Given the description of an element on the screen output the (x, y) to click on. 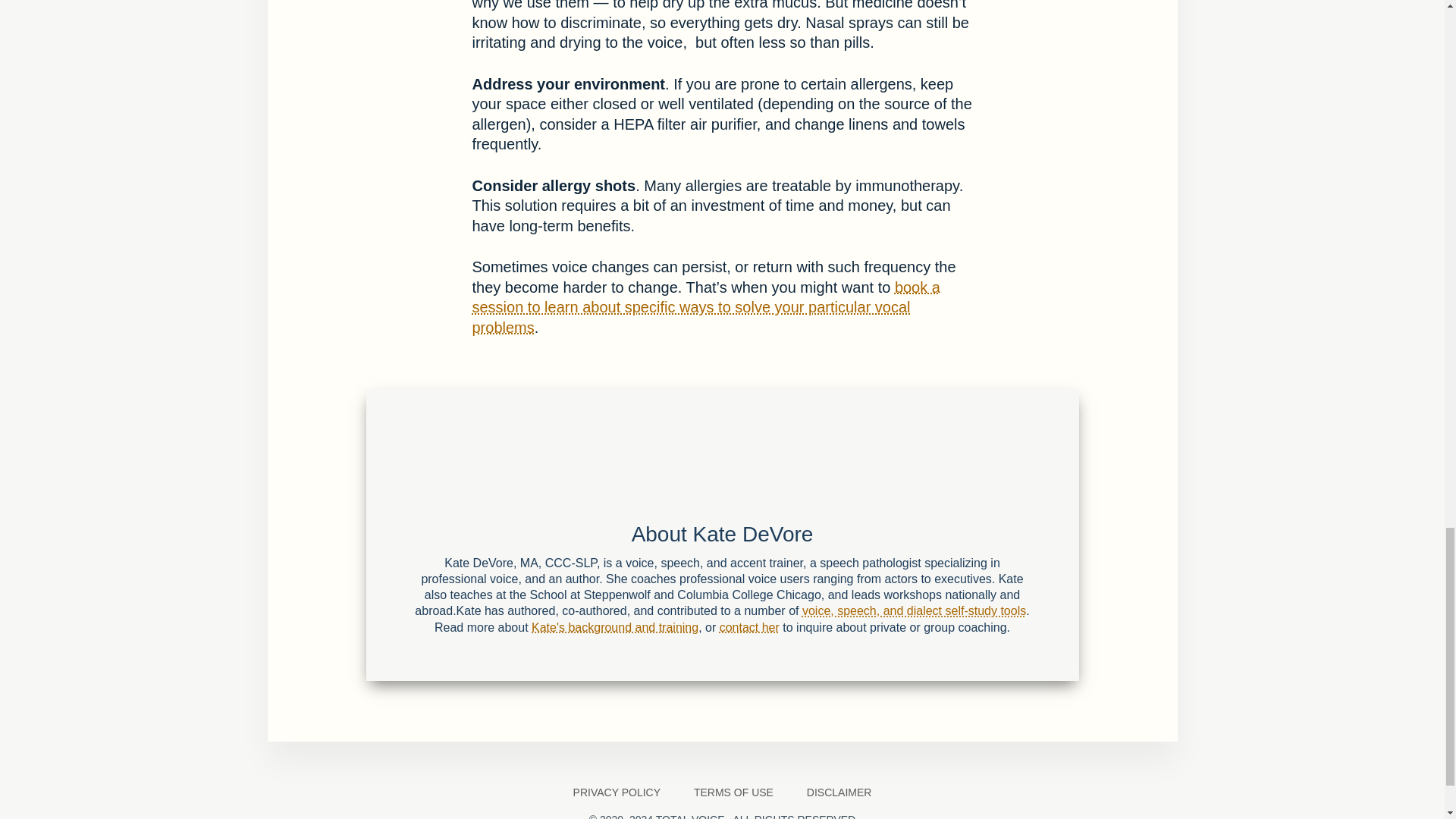
voice, speech, and dialect self-study tools (914, 610)
Kate's background and training (614, 626)
TERMS OF USE (733, 792)
PRIVACY POLICY (616, 792)
DISCLAIMER (839, 792)
contact her (748, 626)
